Given the description of an element on the screen output the (x, y) to click on. 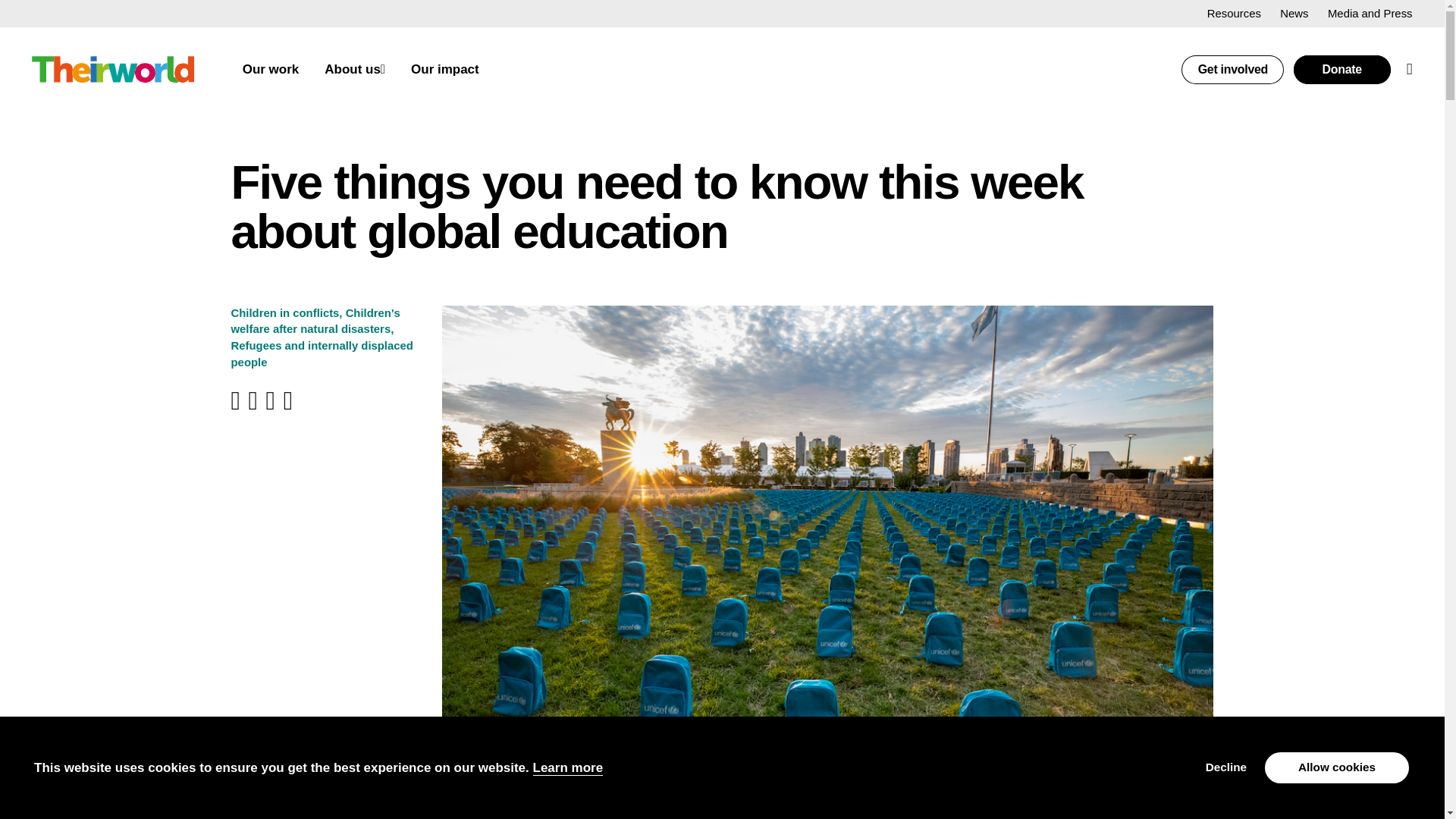
Donate (1342, 69)
News (1293, 13)
Media and Press (1369, 13)
Get involved (1232, 69)
About us (352, 69)
Our work (271, 69)
Allow cookies (1336, 767)
Resources (1233, 13)
Decline (1225, 767)
Our impact (444, 69)
Learn more (568, 767)
